Given the description of an element on the screen output the (x, y) to click on. 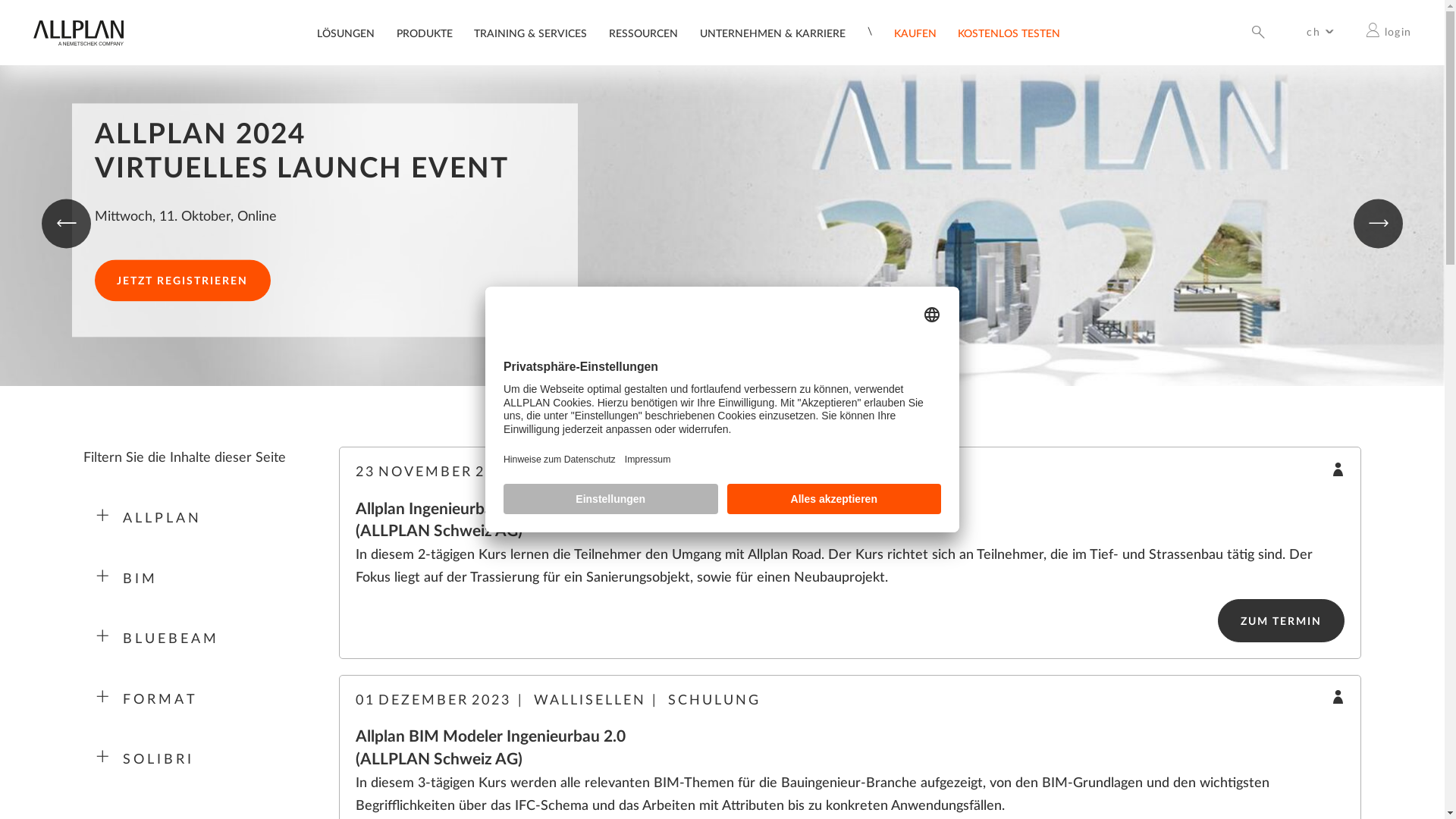
Next Element type: text (1377, 222)
UNTERNEHMEN & KARRIERE Element type: text (772, 36)
TRAINING & SERVICES Element type: text (529, 36)
PRODUKTE Element type: text (429, 36)
JETZT REGISTRIEREN Element type: text (181, 280)
RESSOURCEN Element type: text (642, 36)
Zur Startseite Element type: hover (77, 41)
KAUFEN Element type: text (915, 36)
login Element type: text (1389, 31)
ZUM TERMIN Element type: text (1280, 620)
Previous Element type: text (66, 222)
KOSTENLOS TESTEN Element type: text (1008, 36)
